Given the description of an element on the screen output the (x, y) to click on. 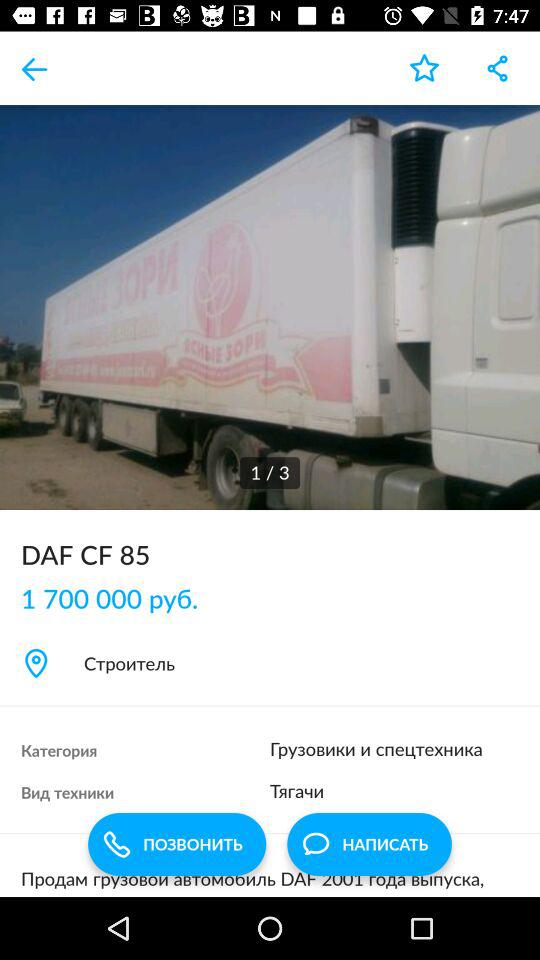
open the item on the left (120, 598)
